Given the description of an element on the screen output the (x, y) to click on. 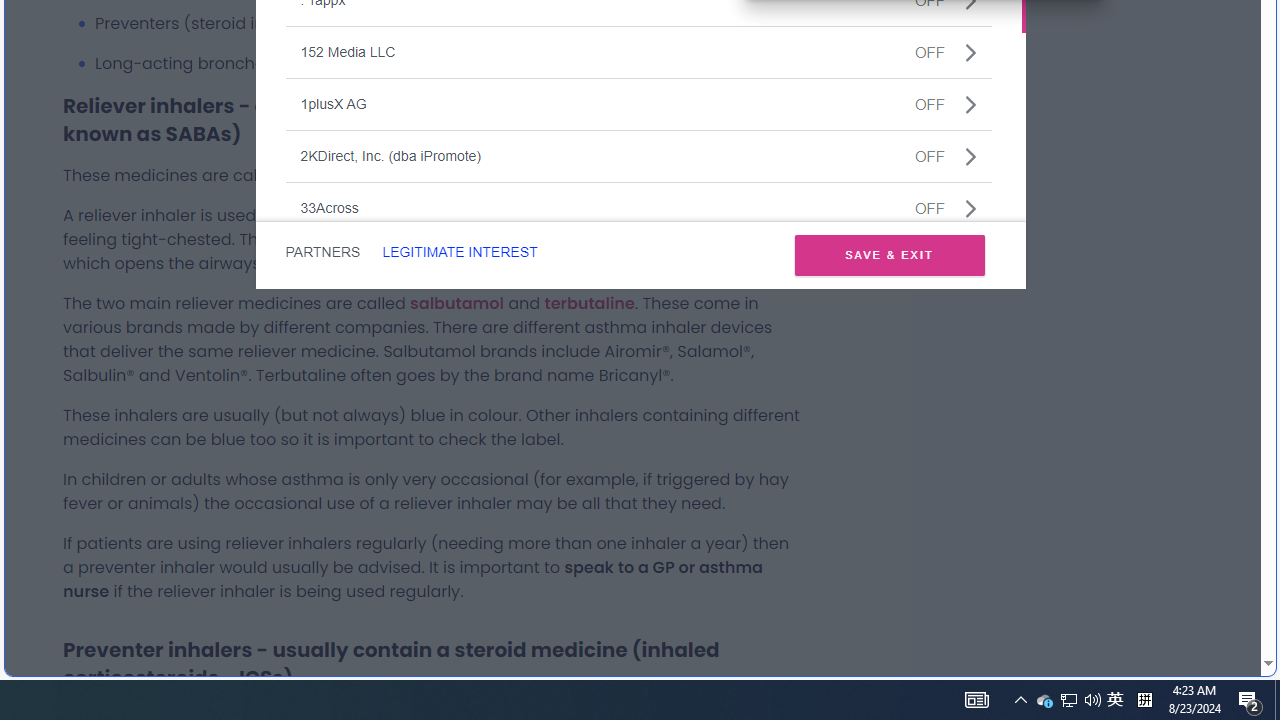
salbutamol (456, 302)
terbutaline (1115, 699)
PARTNERS (589, 302)
33AcrossOFF (322, 251)
LEGITIMATE INTEREST (638, 208)
2KDirect, Inc. (dba iPromote)OFF (459, 251)
